Given the description of an element on the screen output the (x, y) to click on. 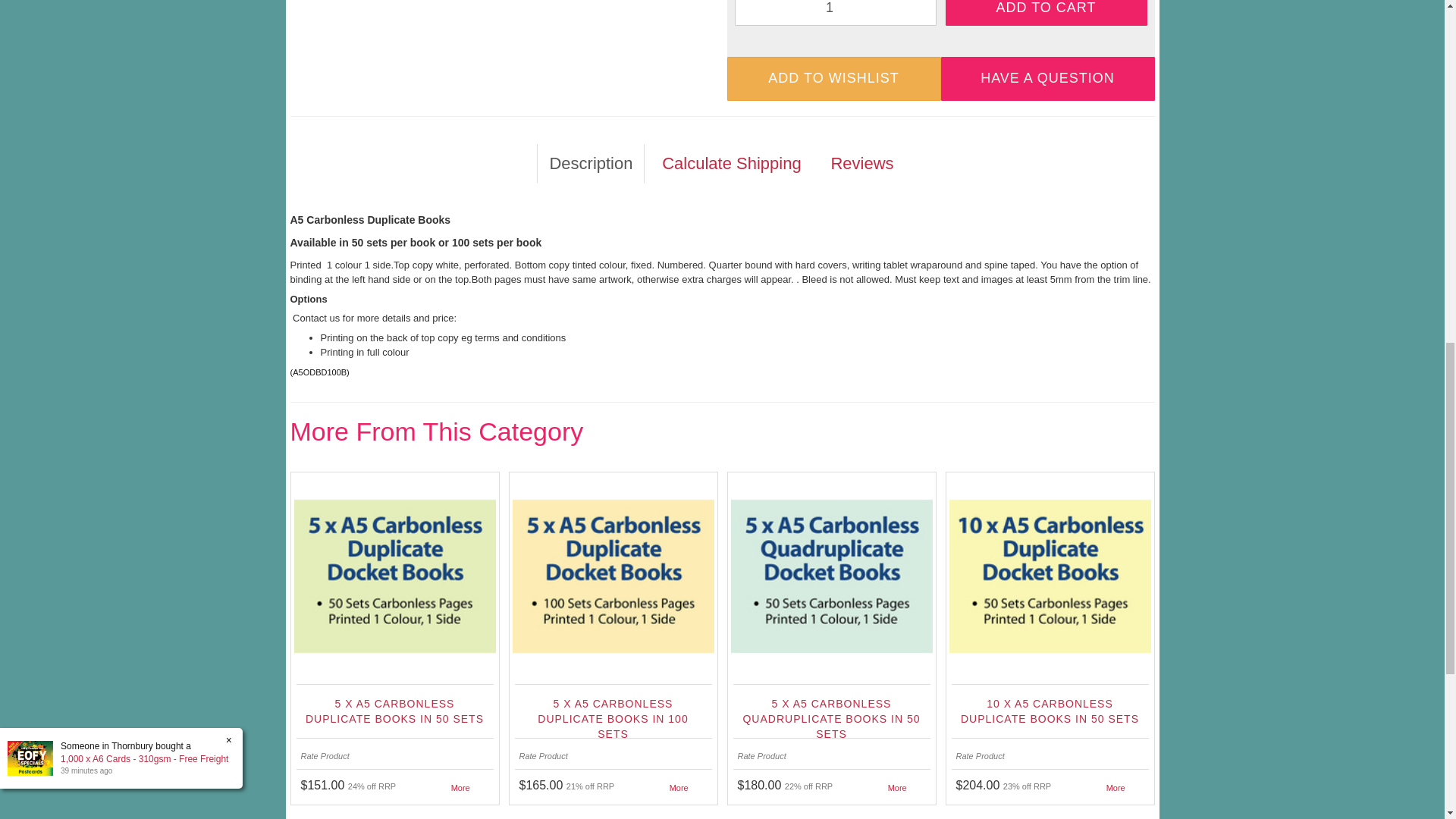
Buying Options (1115, 786)
5 x A5 Carbonless Duplicate Books in 50 sets (393, 712)
Buying Options (460, 786)
1 (834, 12)
Buying Options (897, 786)
5 x A5 Carbonless Quadruplicate Books in 50 sets (830, 712)
10 x A5 Carbonless Duplicate Books in 50 sets (1048, 712)
Buying Options (678, 786)
5 x A5 Carbonless Duplicate Books in 100 sets (612, 712)
Add to Cart (1045, 12)
